Given the description of an element on the screen output the (x, y) to click on. 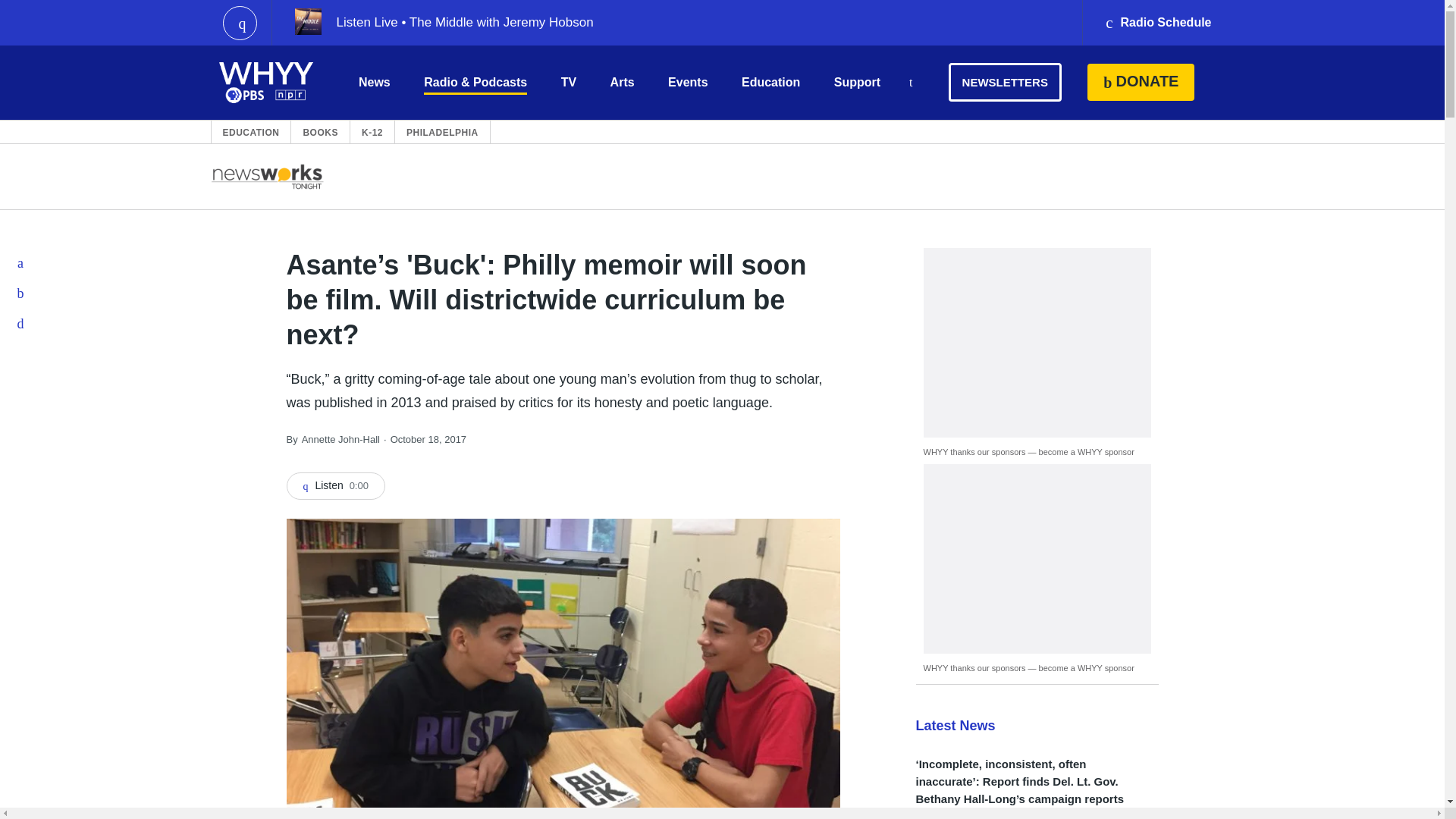
BOOKS (319, 132)
Radio Schedule (1157, 22)
K-12 (371, 132)
Facebook (21, 263)
EDUCATION (250, 132)
Twitter (21, 293)
Email (21, 323)
Search (910, 83)
WHYY (266, 82)
